Given the description of an element on the screen output the (x, y) to click on. 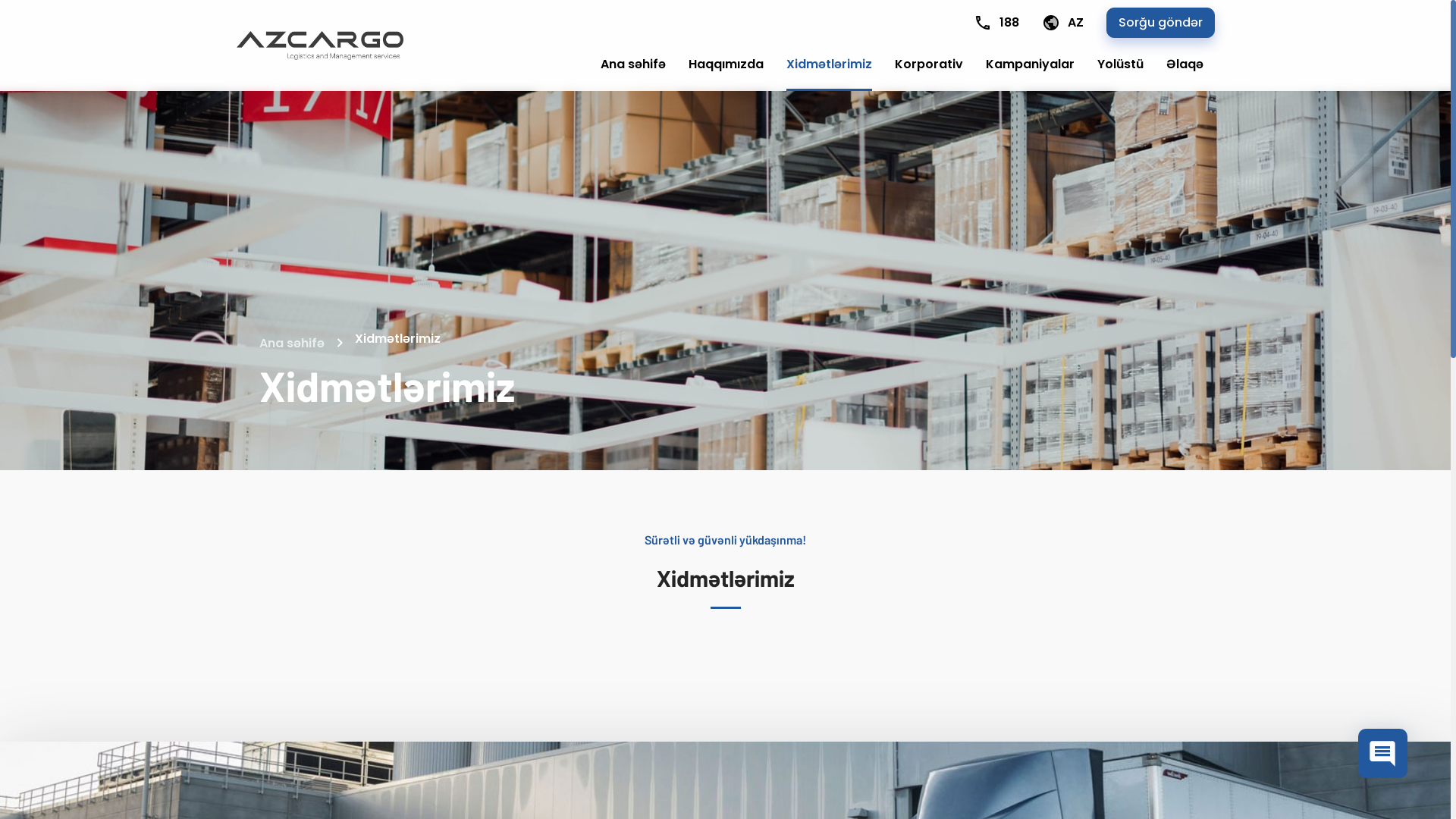
chat Element type: hover (1382, 753)
Kampaniyalar Element type: text (1029, 64)
AZ Element type: text (1062, 21)
Korporativ Element type: text (928, 64)
188 Element type: text (996, 21)
